Given the description of an element on the screen output the (x, y) to click on. 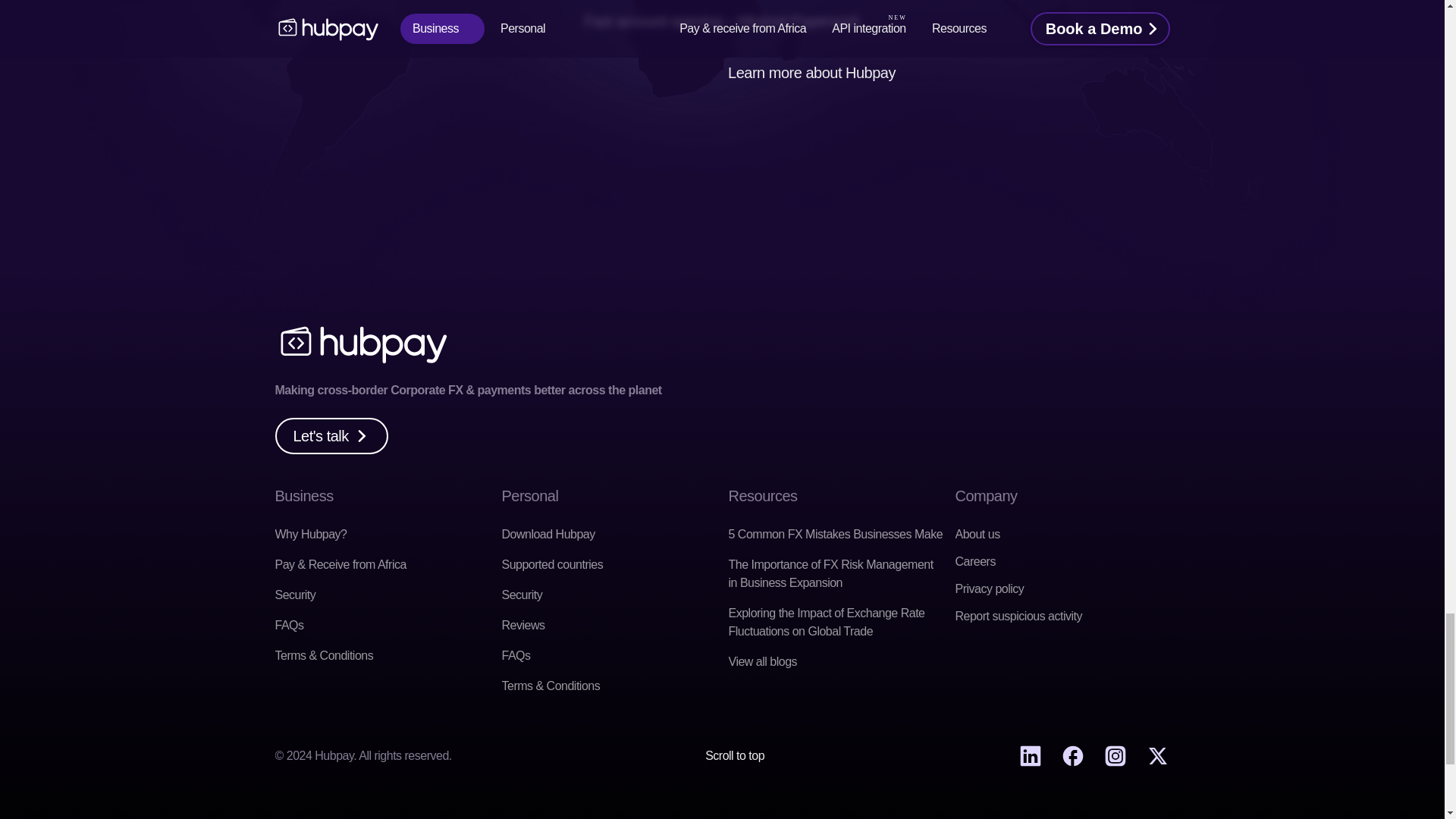
Business (304, 495)
Resources (762, 495)
Download Hubpay (548, 533)
Why Hubpay? (310, 533)
About us (977, 533)
Learn more about Hubpay (811, 72)
Personal (530, 495)
View all blogs (762, 661)
Let's talk (331, 435)
Supported countries (553, 563)
The Importance of FX Risk Management in Business Expansion (832, 572)
Reviews (523, 625)
Security (522, 594)
FAQs (288, 625)
